Given the description of an element on the screen output the (x, y) to click on. 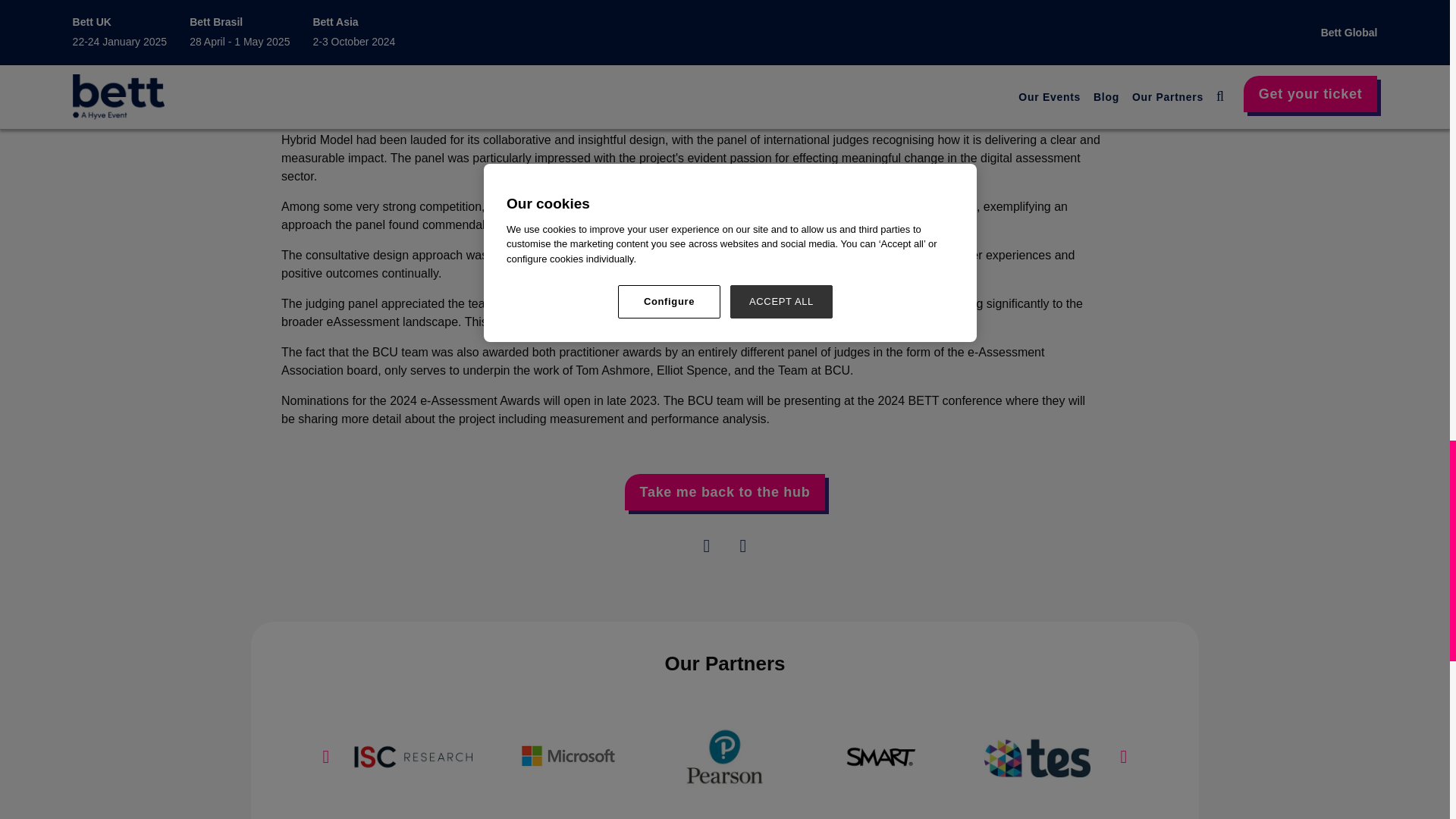
Take me back to the hub (724, 492)
